Given the description of an element on the screen output the (x, y) to click on. 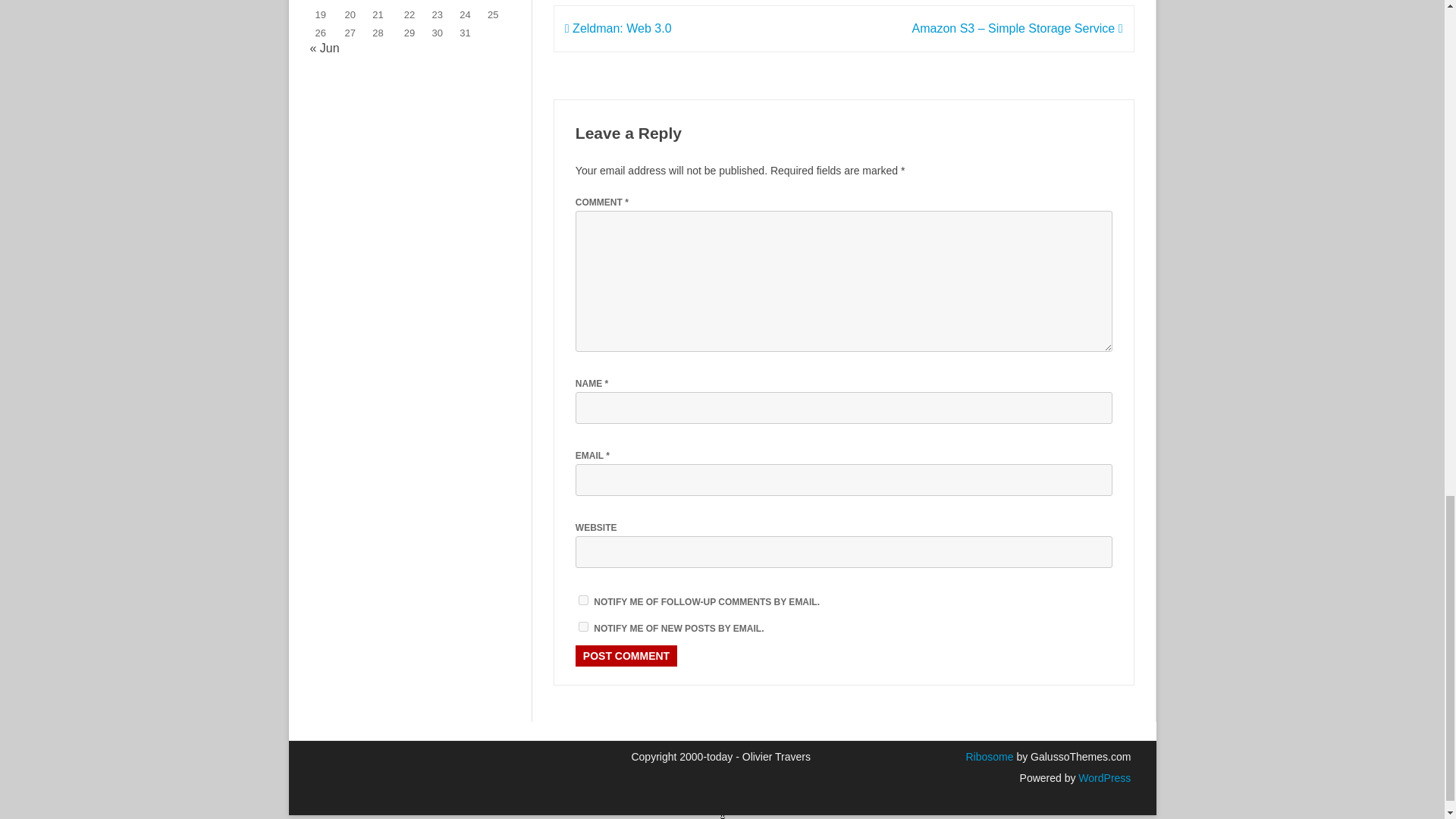
Post Comment (626, 655)
WordPress (1103, 777)
Ribosome (989, 756)
subscribe (583, 600)
Zeldman: Web 3.0 (617, 28)
Post Comment (626, 655)
subscribe (583, 626)
